Given the description of an element on the screen output the (x, y) to click on. 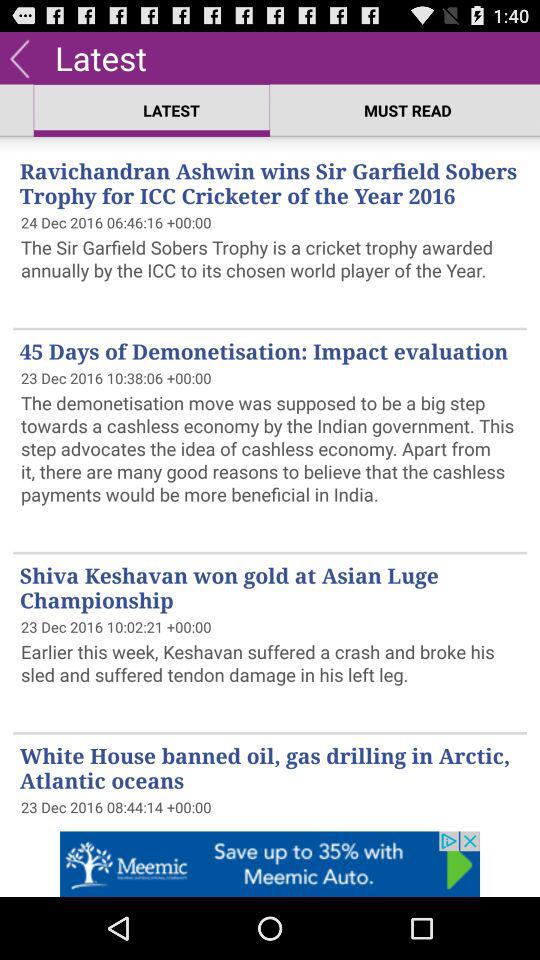
connect to advertisement (270, 864)
